Given the description of an element on the screen output the (x, y) to click on. 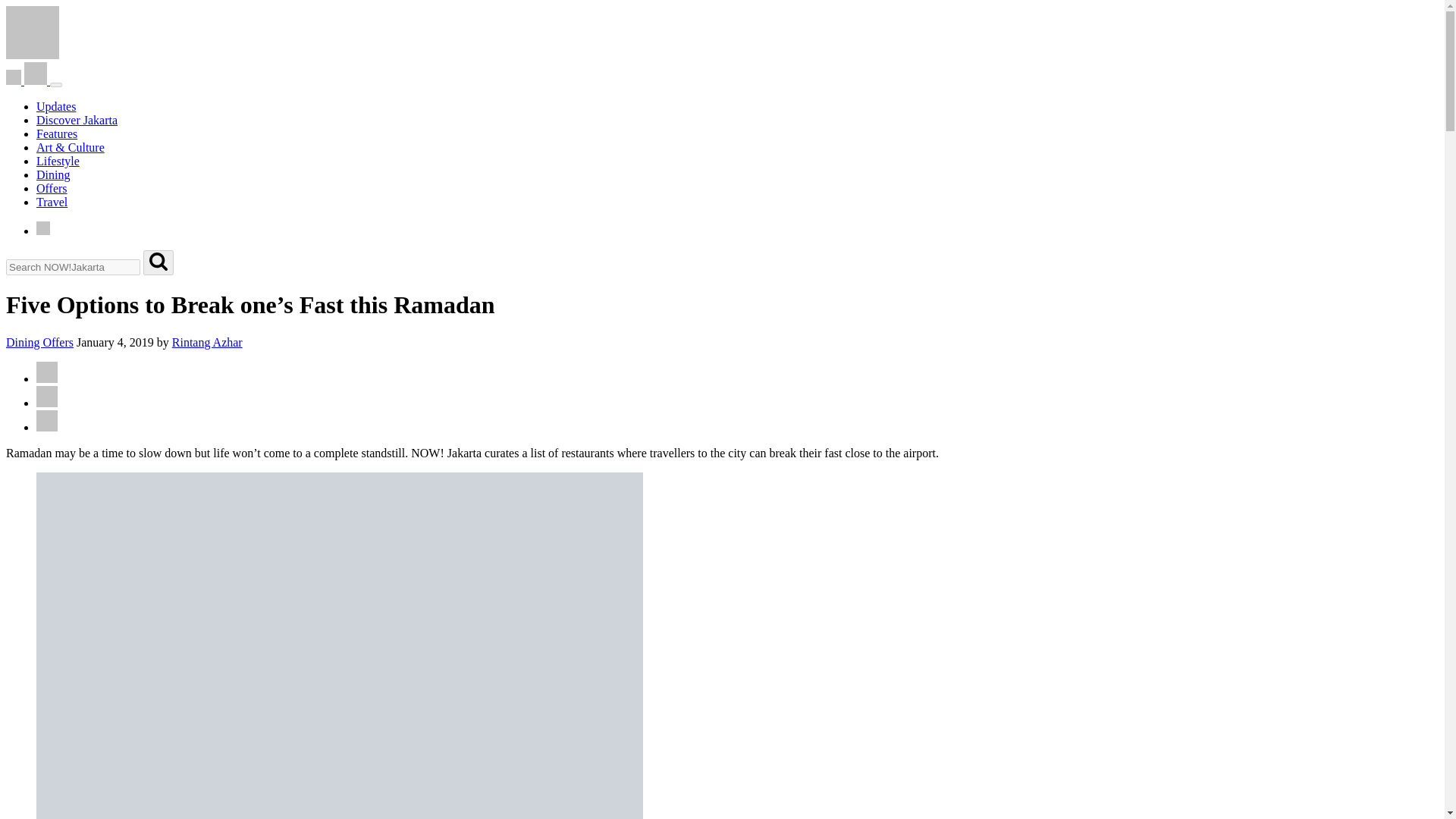
Travel (51, 201)
Dining (52, 174)
Offers (51, 187)
Updates (55, 106)
Rintang Azhar (207, 341)
Features (56, 133)
Dining Offers (39, 341)
Lifestyle (58, 160)
Discover Jakarta (76, 119)
